Given the description of an element on the screen output the (x, y) to click on. 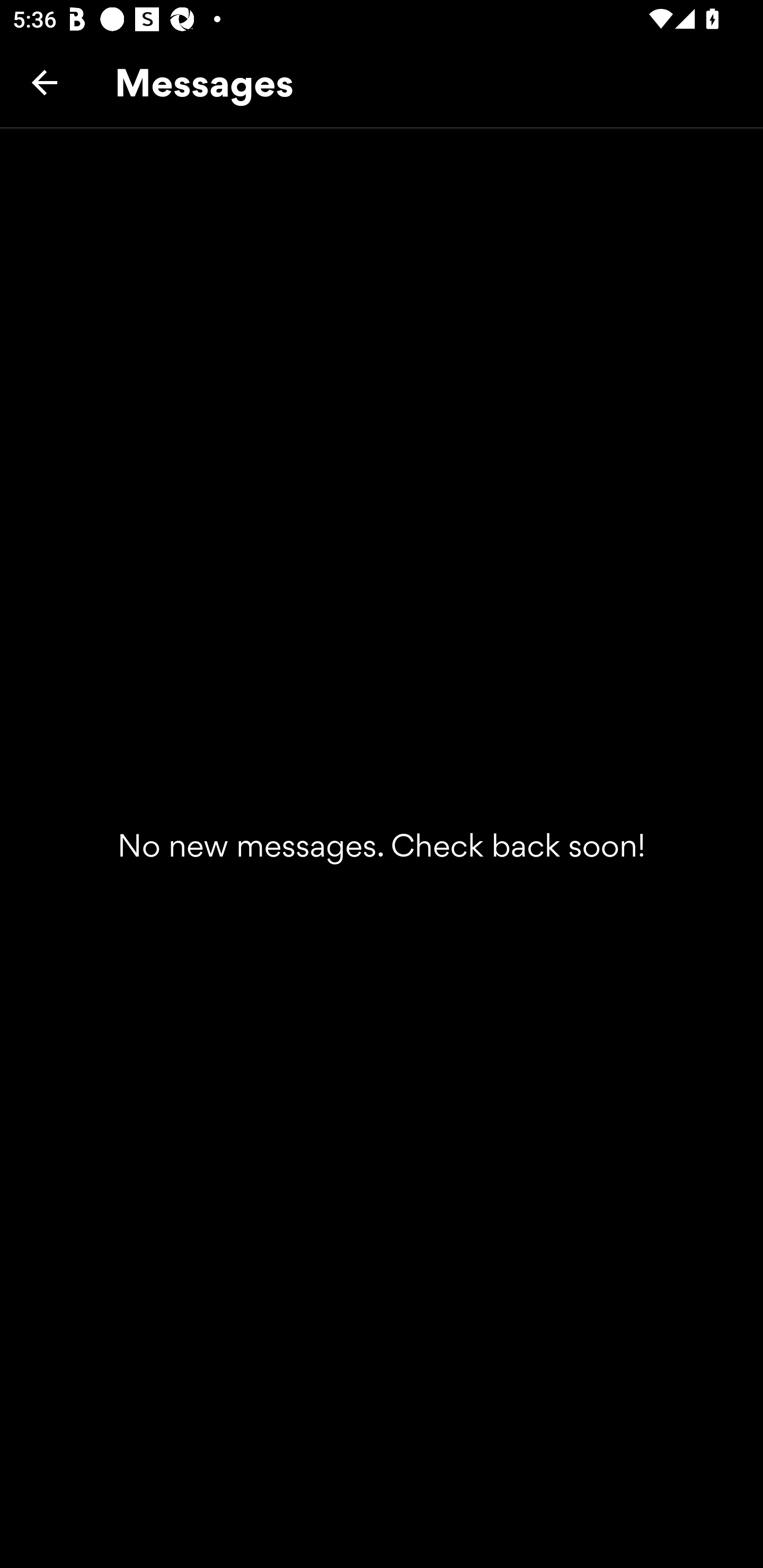
Back (44, 82)
